Given the description of an element on the screen output the (x, y) to click on. 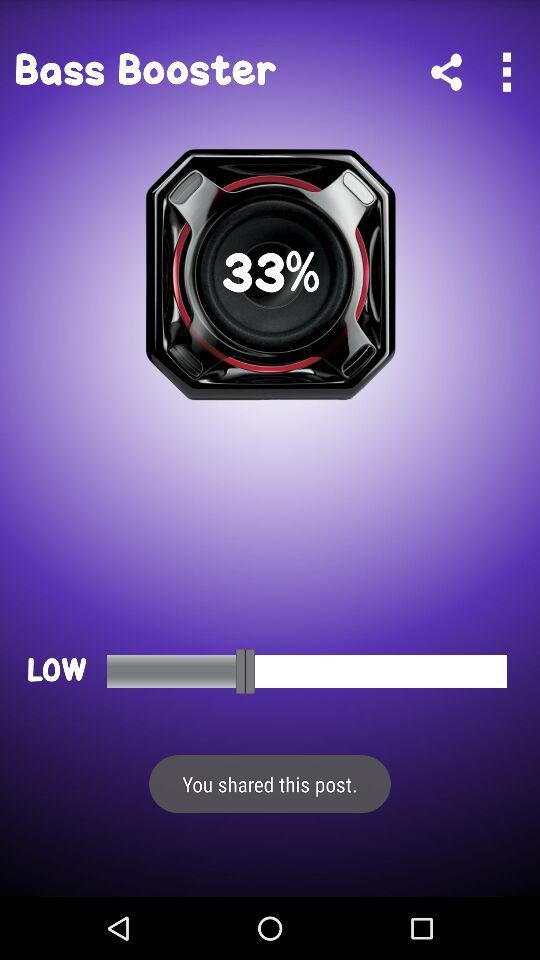
expand menu (506, 72)
